Given the description of an element on the screen output the (x, y) to click on. 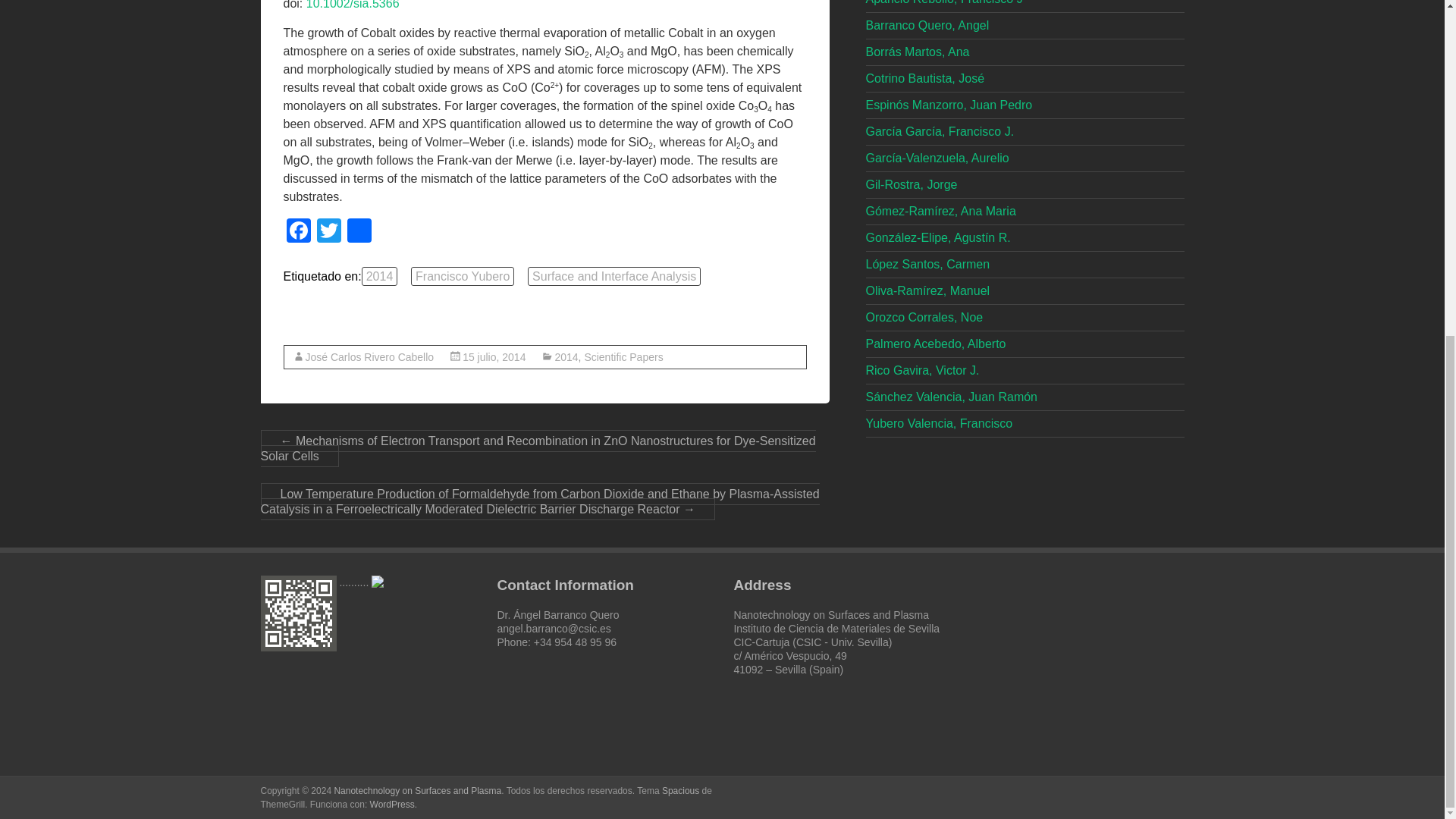
Nanotechnology on Surfaces and Plasma (416, 790)
WordPress (391, 804)
Facebook (298, 232)
Twitter (328, 232)
Spacious (680, 790)
11:28 am (494, 357)
